Given the description of an element on the screen output the (x, y) to click on. 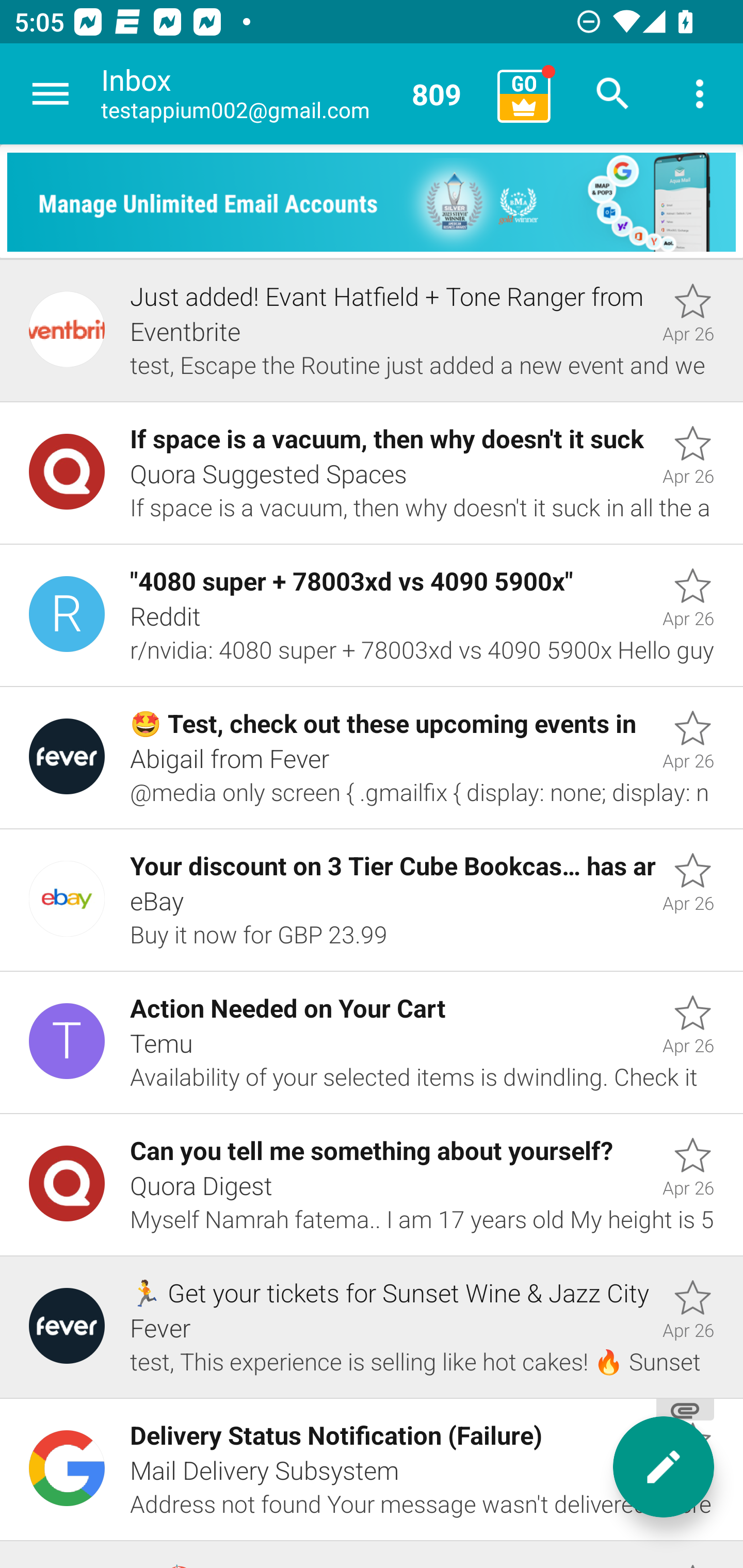
Navigate up (50, 93)
Inbox testappium002@gmail.com 809 (291, 93)
Search (612, 93)
More options (699, 93)
New message (663, 1466)
